Given the description of an element on the screen output the (x, y) to click on. 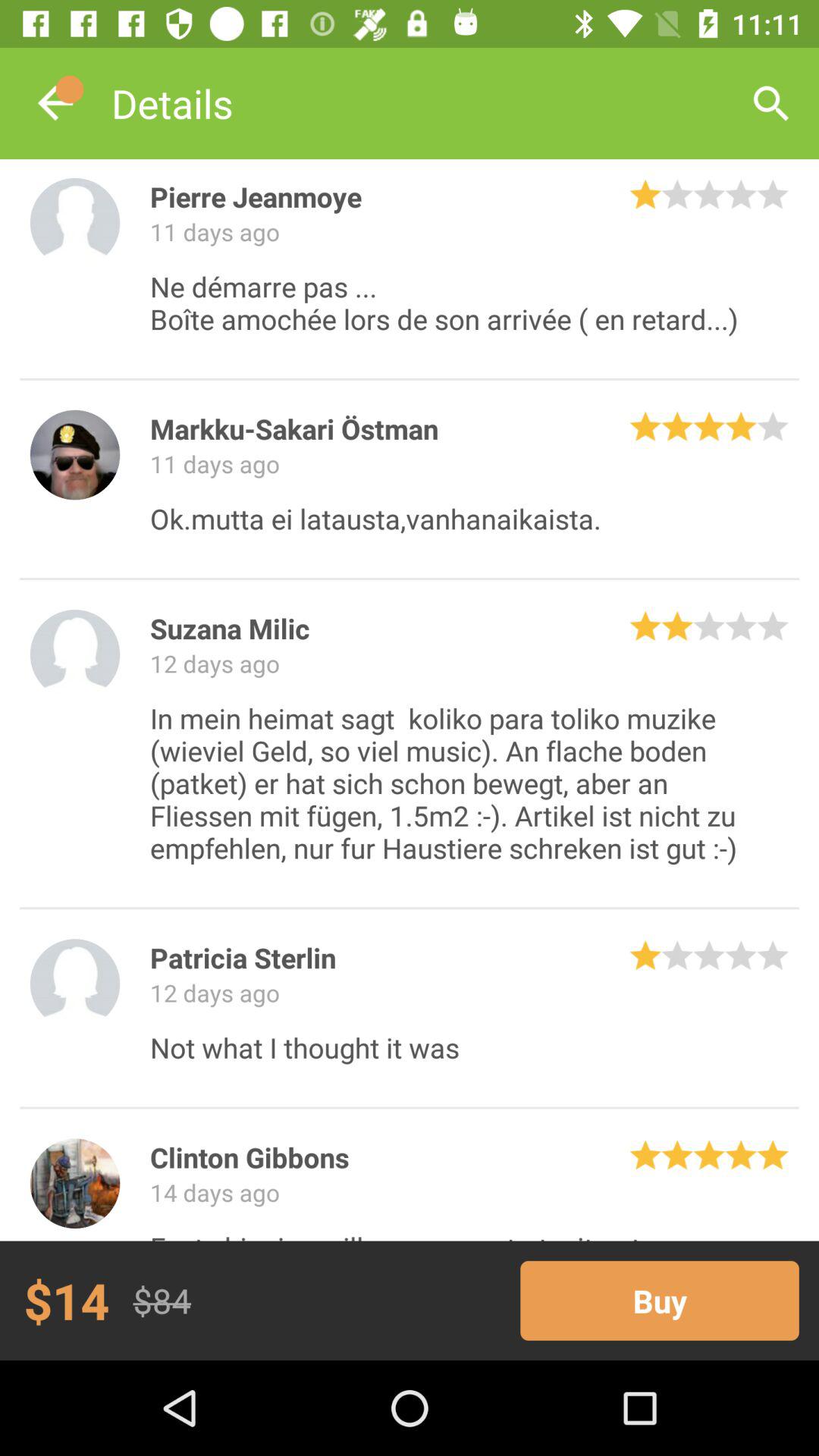
press the buy icon (659, 1300)
